Given the description of an element on the screen output the (x, y) to click on. 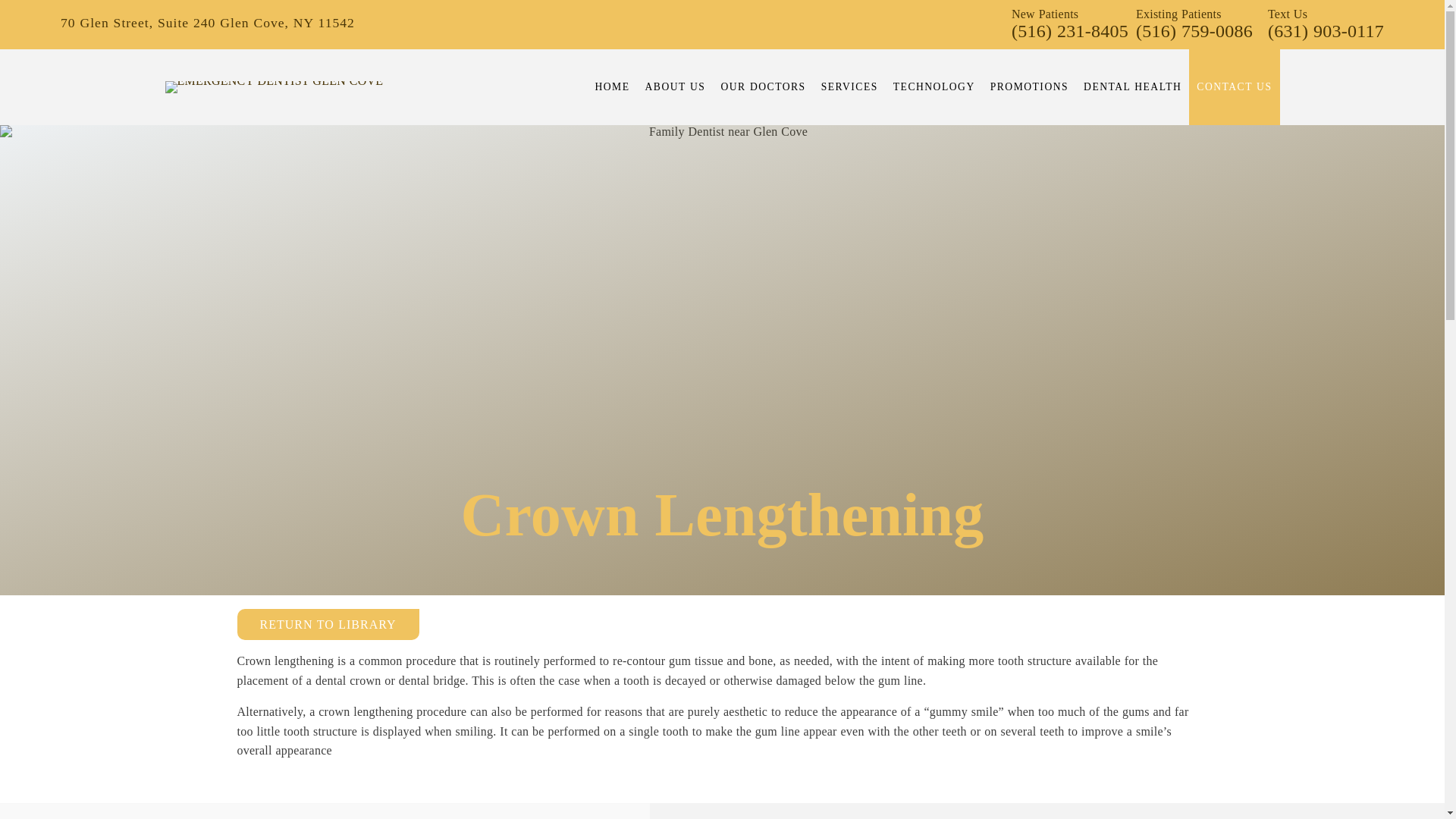
RETURN TO LIBRARY (327, 624)
